Given the description of an element on the screen output the (x, y) to click on. 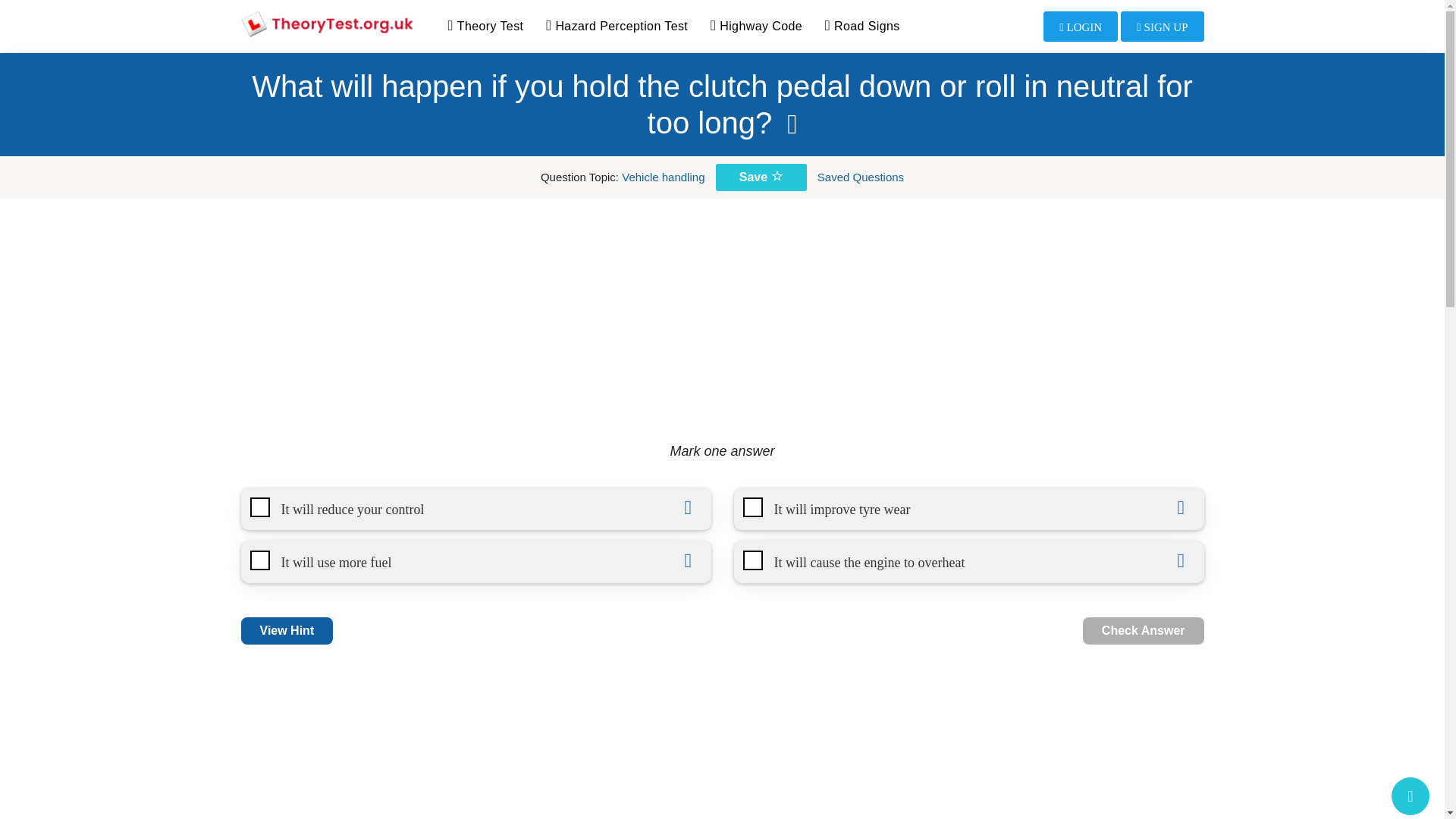
Road Signs (862, 26)
LOGIN (1080, 26)
Highway Code (756, 26)
Hazard Perception Test (616, 26)
SIGN UP (1162, 26)
Theory Test (486, 26)
